Given the description of an element on the screen output the (x, y) to click on. 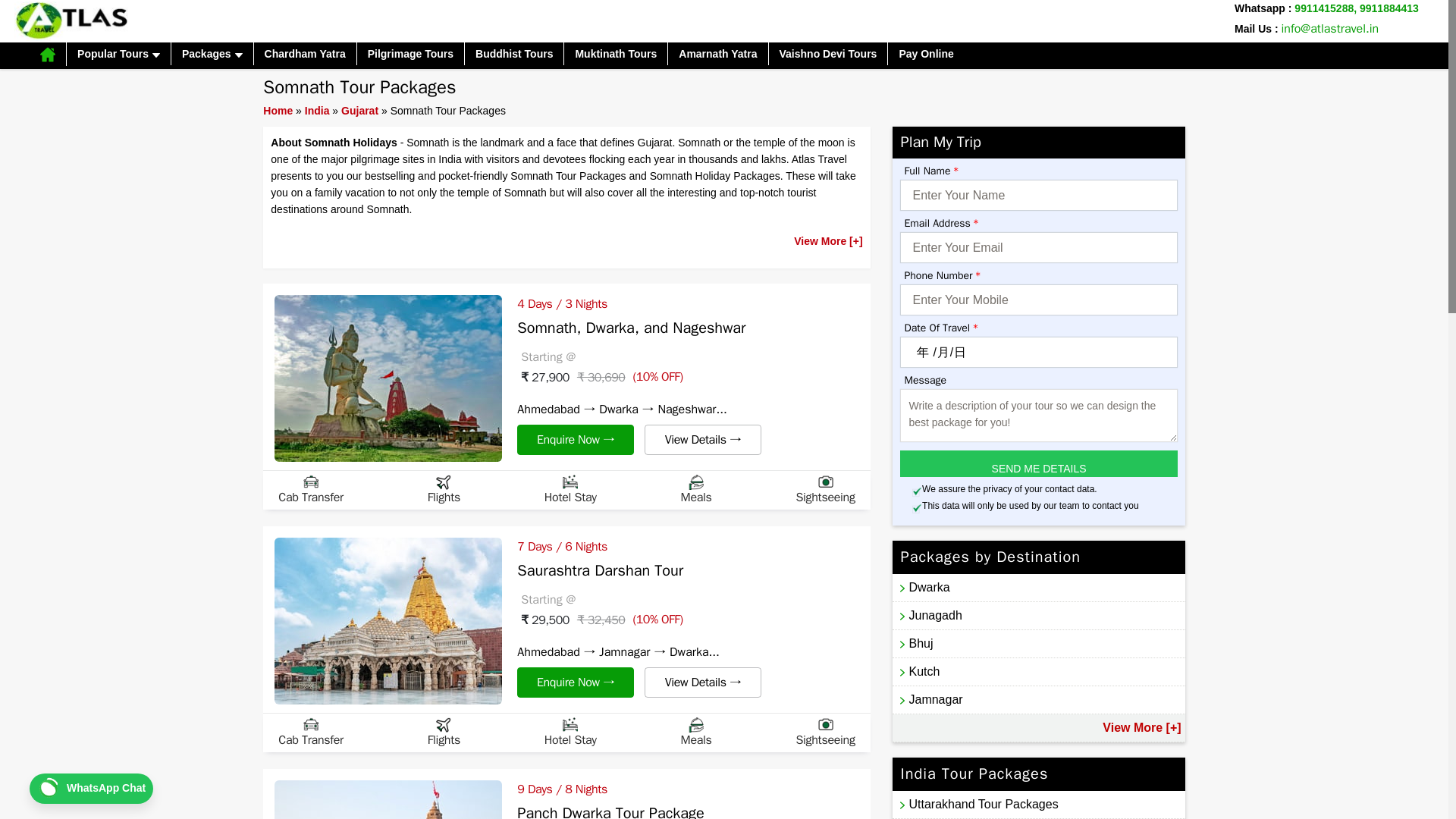
Pilgrimage Tours (410, 53)
Buddhist Tours (513, 53)
Chardham Yatra (304, 53)
Dwarka (1038, 587)
SEND ME DETAILS (1038, 463)
India (317, 110)
Popular Tours (118, 53)
Pay Online (925, 53)
Amarnath Yatra (717, 53)
Muktinath Tours (615, 53)
